Given the description of an element on the screen output the (x, y) to click on. 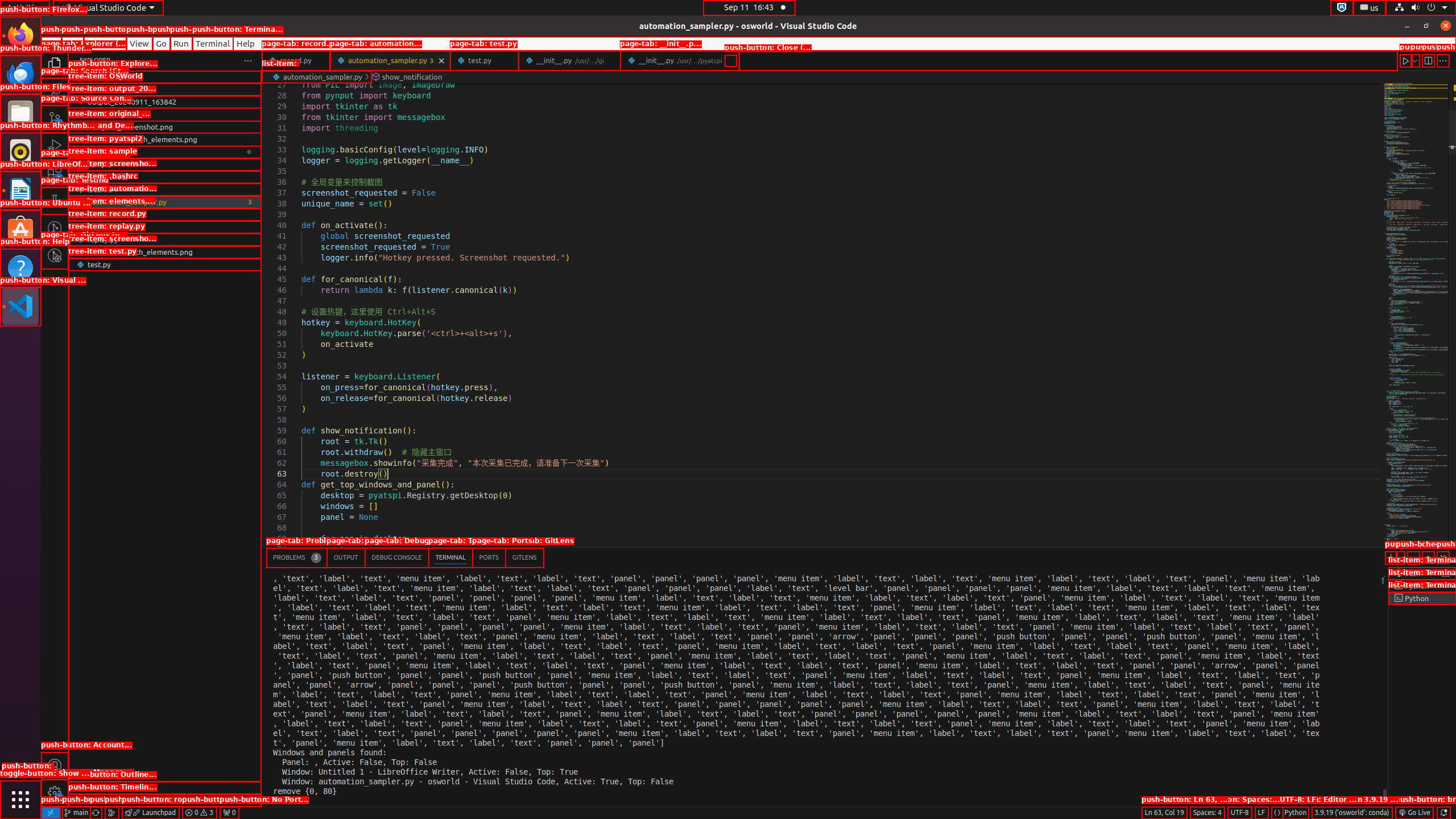
replay.py Element type: tree-item (164, 239)
test.py Element type: tree-item (164, 264)
output_20240911_163842 Element type: tree-item (164, 101)
Explorer Section: osworld Element type: push-button (164, 76)
